Given the description of an element on the screen output the (x, y) to click on. 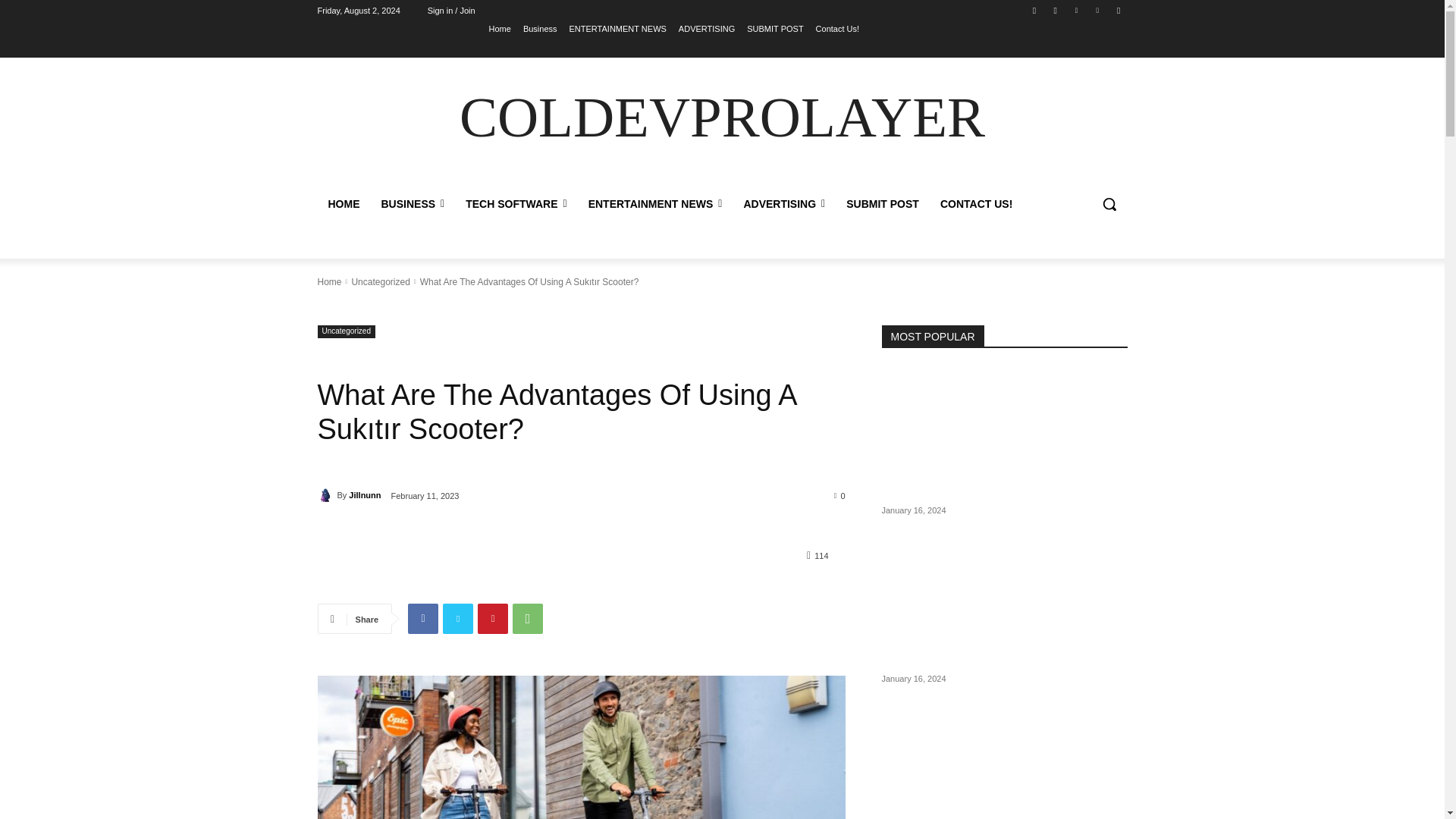
Twitter (1075, 9)
BUSINESS (411, 203)
ADVERTISING (706, 28)
HOME (343, 203)
Vimeo (1097, 9)
Home (500, 28)
Business (539, 28)
ENTERTAINMENT NEWS (617, 28)
SUBMIT POST (774, 28)
Youtube (1117, 9)
COLDEVPROLAYER (721, 117)
Contact Us! (837, 28)
Facebook (1034, 9)
Instagram (1055, 9)
